Given the description of an element on the screen output the (x, y) to click on. 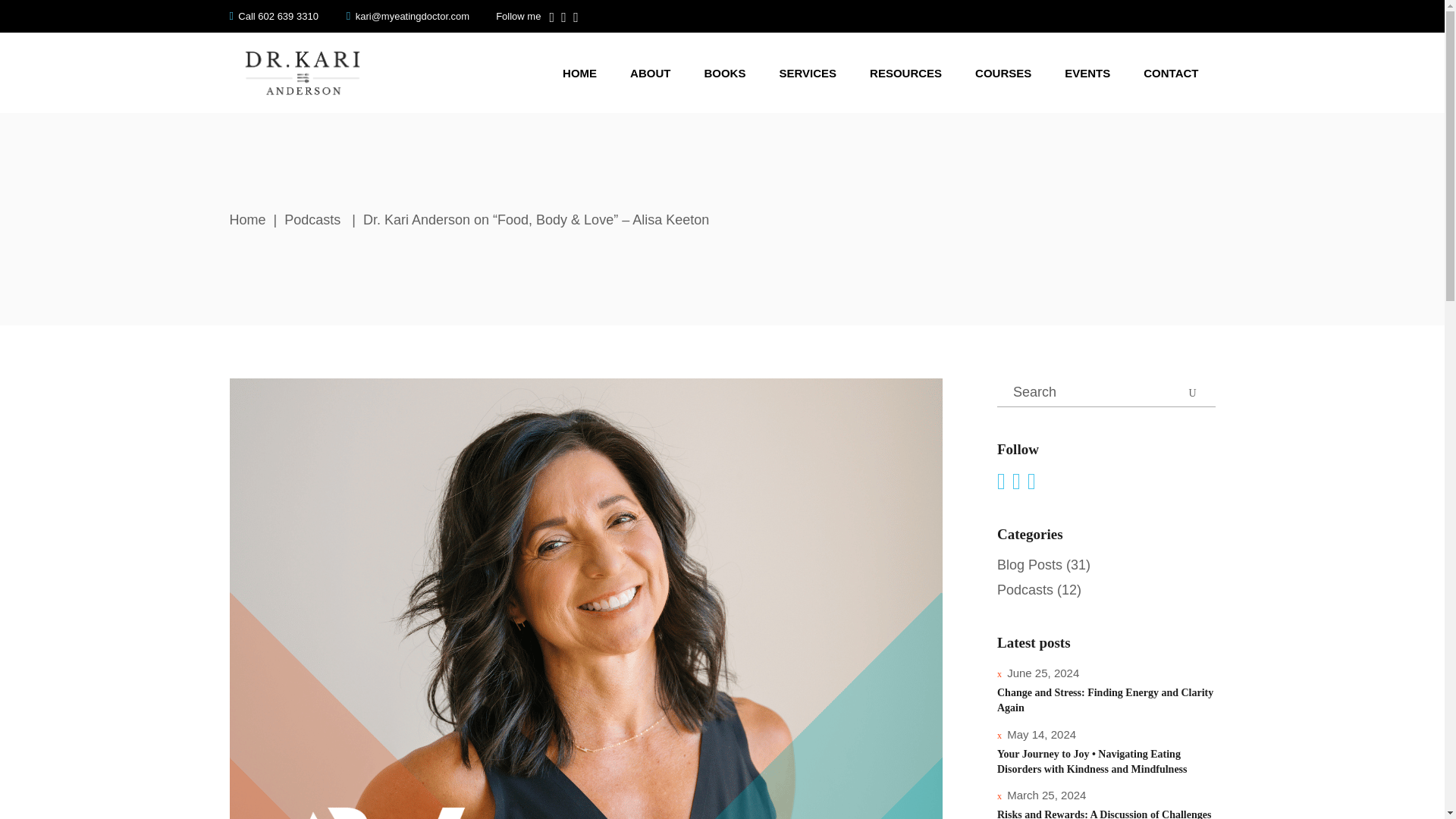
CONTACT (1170, 72)
EVENTS (1087, 72)
Change and Stress: Finding Energy and Clarity Again (1104, 700)
Search for: (1106, 392)
BOOKS (724, 72)
RESOURCES (905, 72)
ABOUT (649, 72)
COURSES (1003, 72)
HOME (579, 72)
Follow me (518, 16)
SERVICES (807, 72)
Call 602 639 3310 (272, 16)
